Given the description of an element on the screen output the (x, y) to click on. 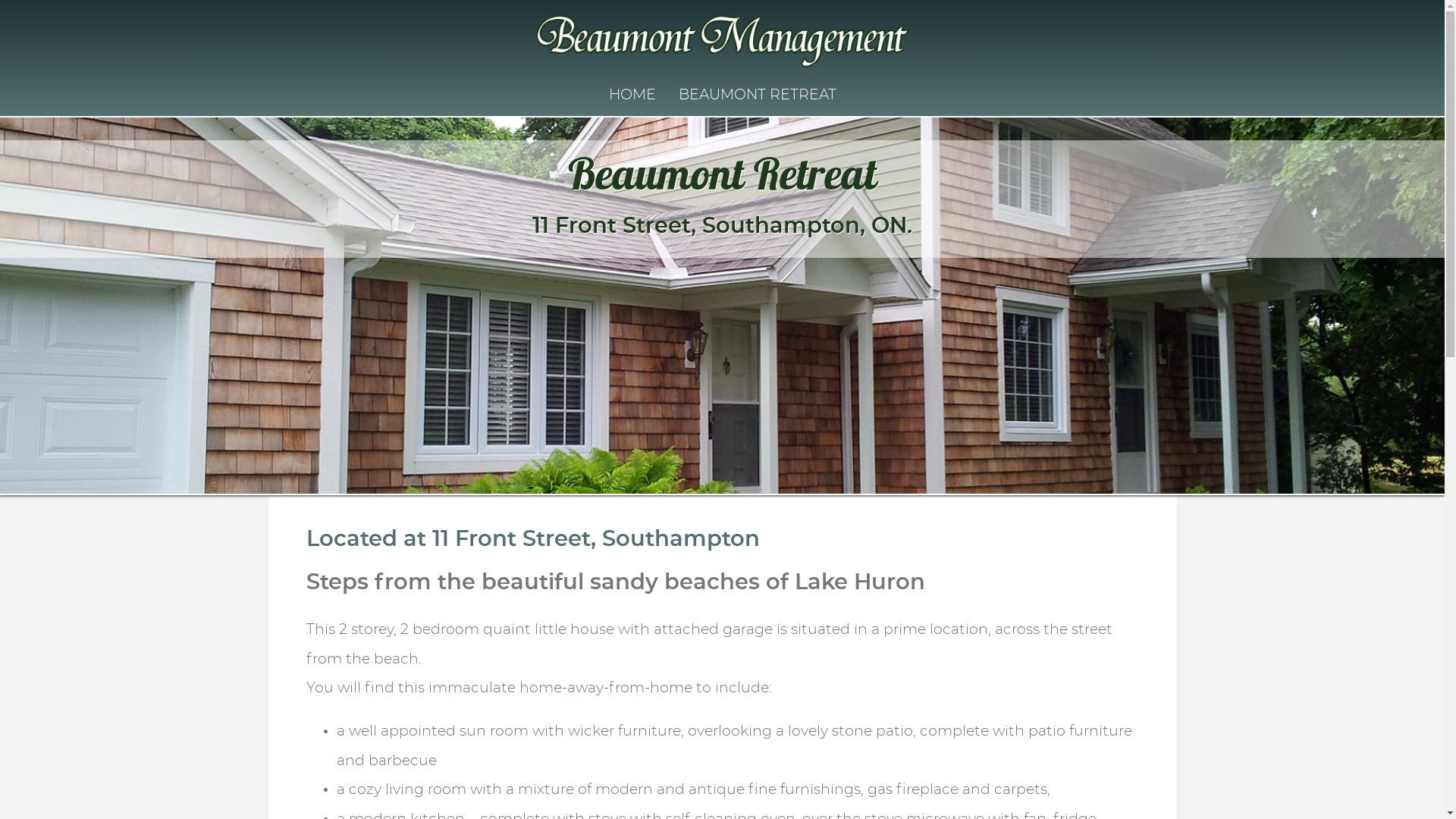
BEAUMONT RETREAT Element type: text (756, 94)
HOME Element type: text (631, 94)
